Given the description of an element on the screen output the (x, y) to click on. 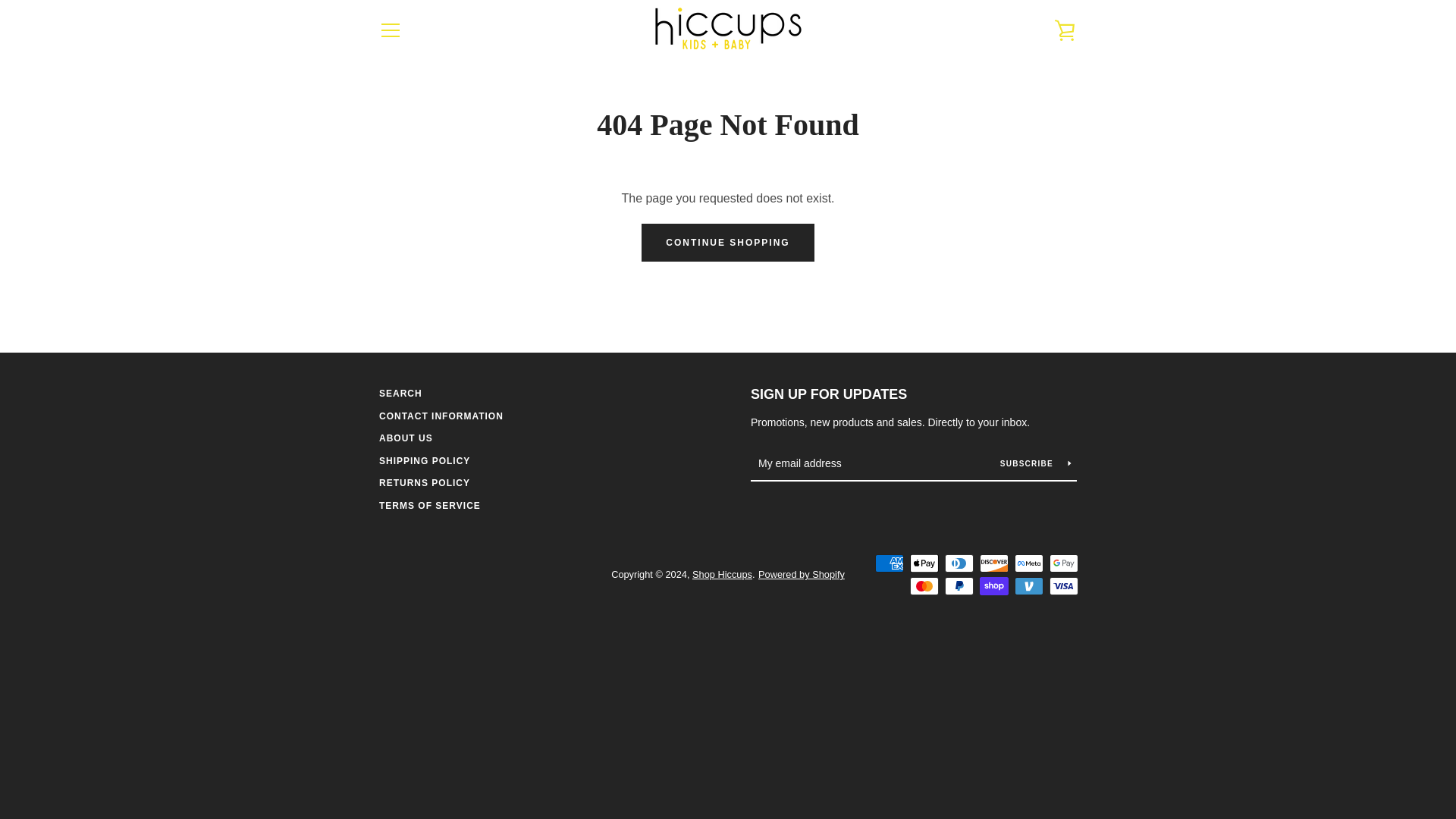
CONTACT INFORMATION (440, 416)
Mastercard (924, 586)
Apple Pay (924, 563)
Google Pay (1063, 563)
Discover (994, 563)
RETURNS POLICY (424, 482)
Meta Pay (1028, 563)
Diners Club (959, 563)
Shop Pay (994, 586)
